Given the description of an element on the screen output the (x, y) to click on. 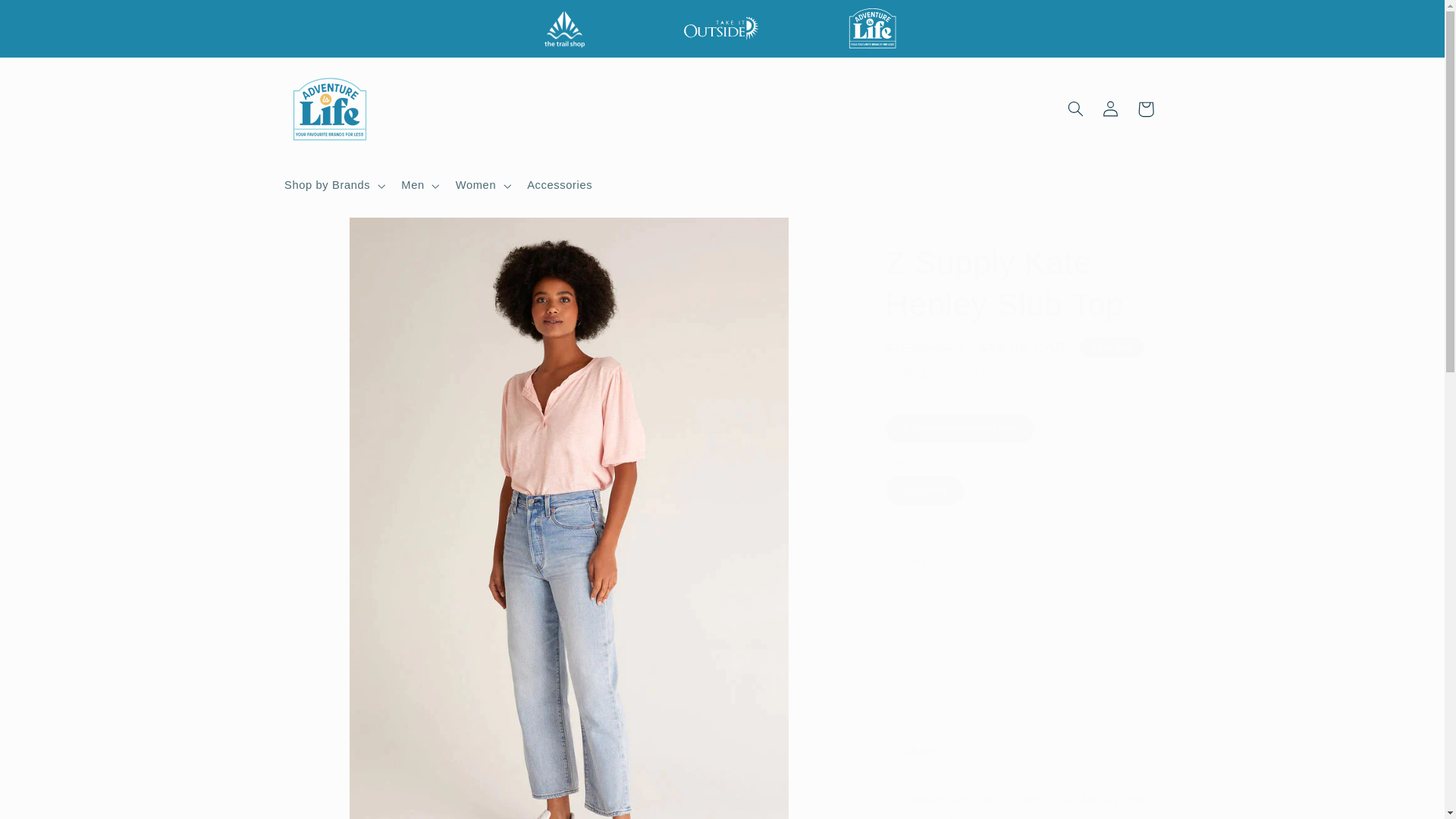
1 (939, 592)
Skip to content (48, 18)
